Given the description of an element on the screen output the (x, y) to click on. 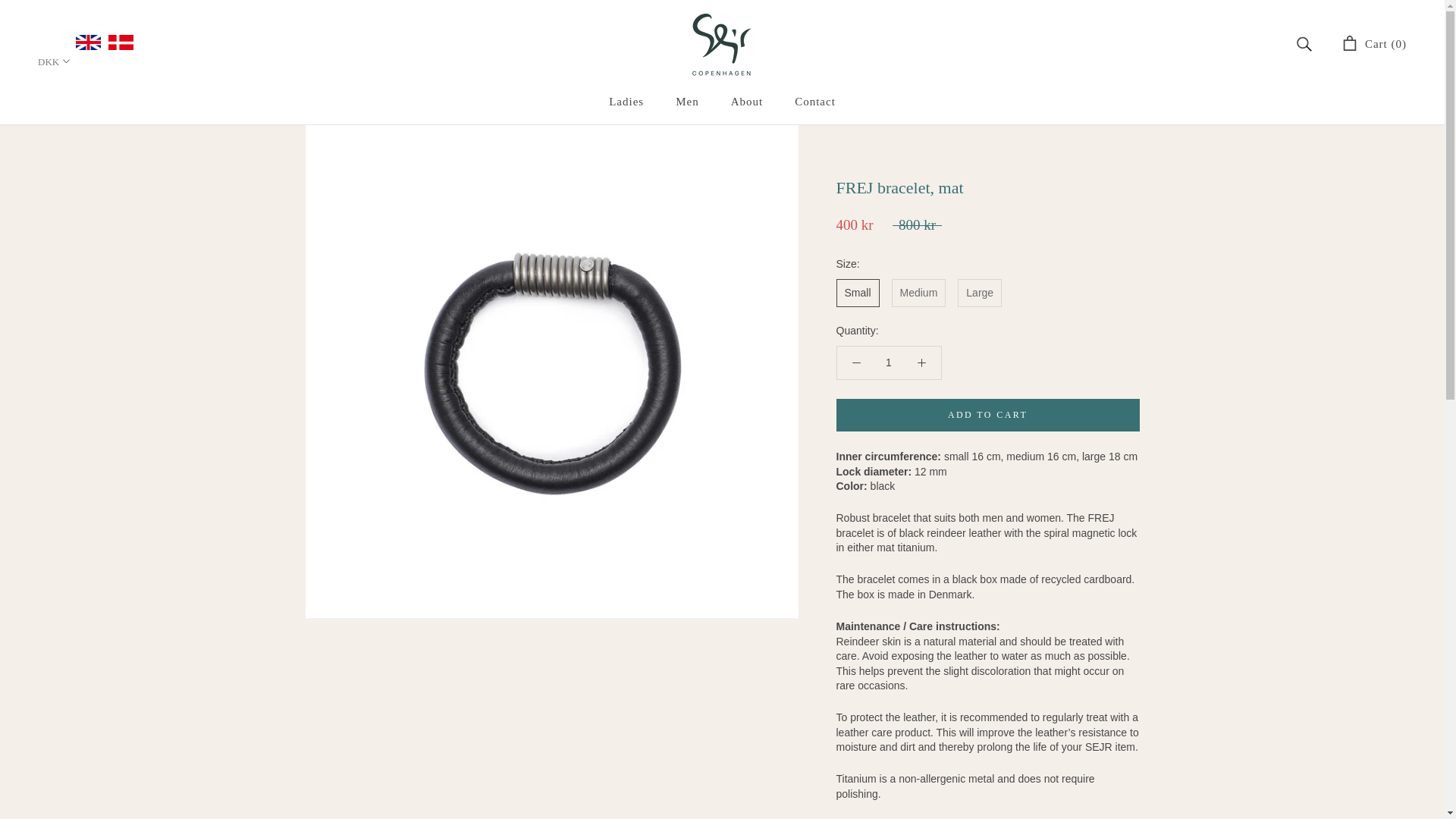
Page 1 (986, 710)
Currency selector (54, 61)
1 (888, 362)
